Given the description of an element on the screen output the (x, y) to click on. 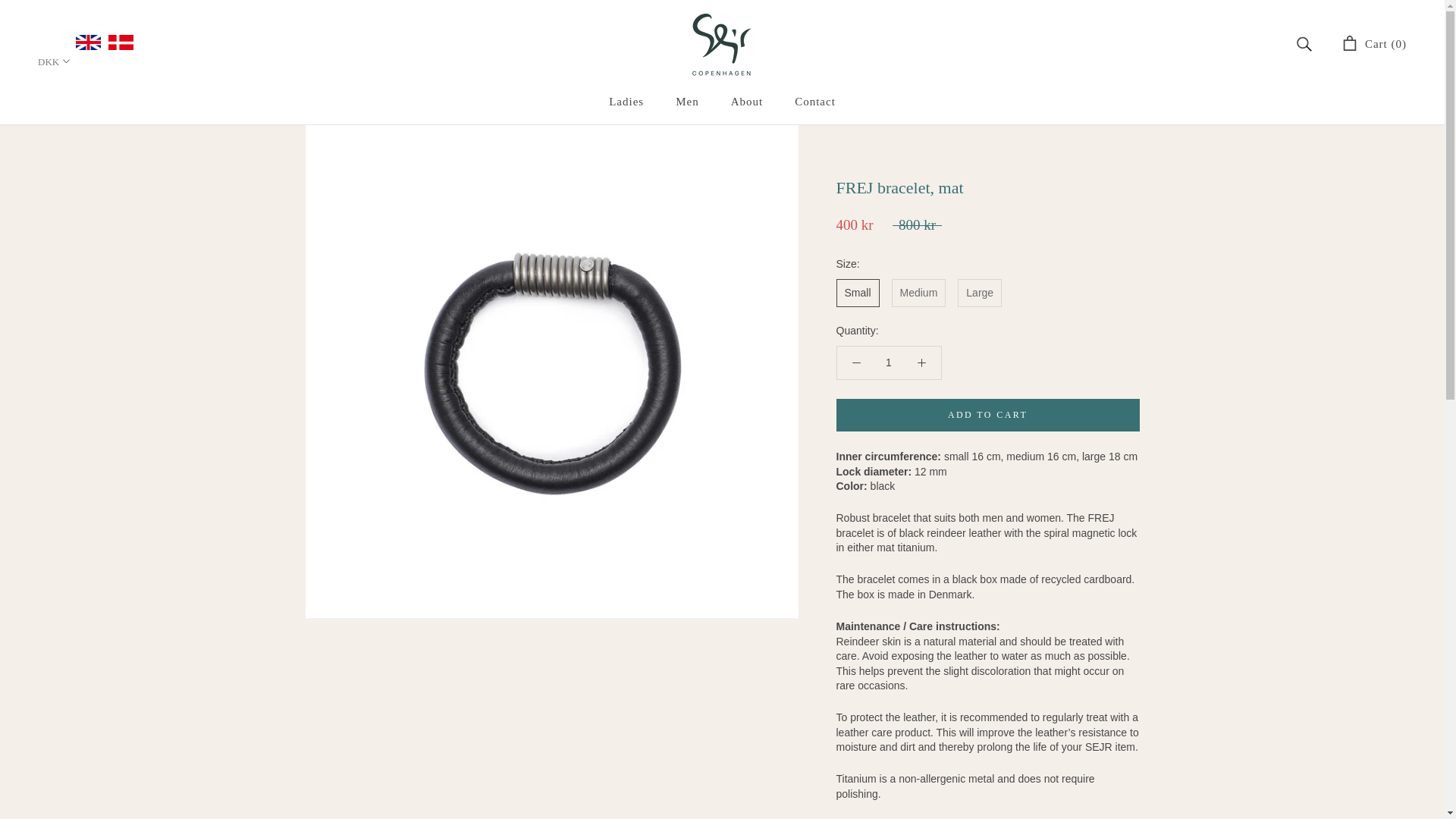
Page 1 (986, 710)
Currency selector (54, 61)
1 (888, 362)
